Given the description of an element on the screen output the (x, y) to click on. 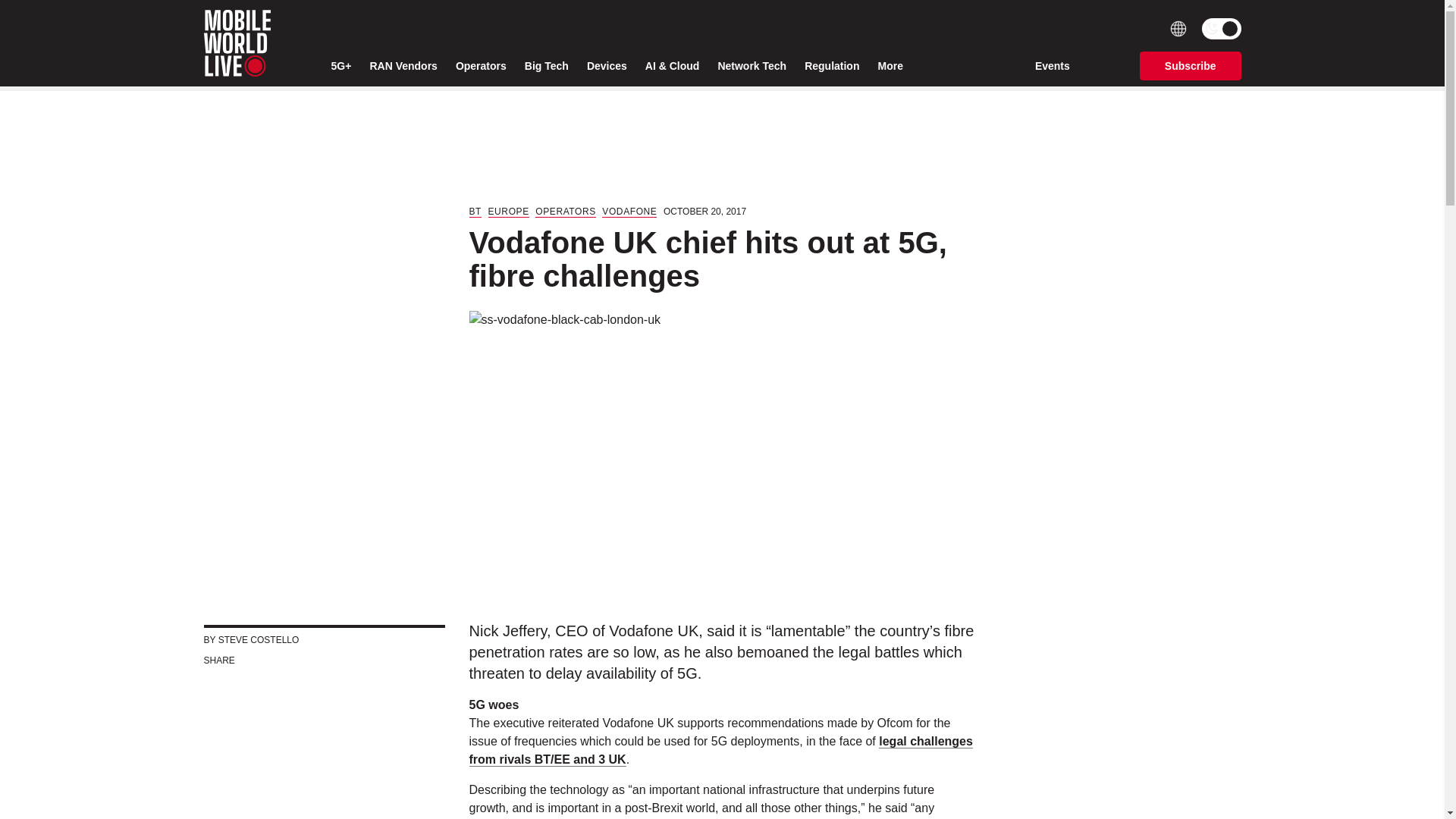
Network Tech (751, 65)
Events (1052, 65)
Devices (606, 65)
More (892, 65)
Regulation (832, 65)
Subscribe (1190, 65)
Operators (480, 65)
RAN Vendors (402, 65)
Big Tech (546, 65)
